Given the description of an element on the screen output the (x, y) to click on. 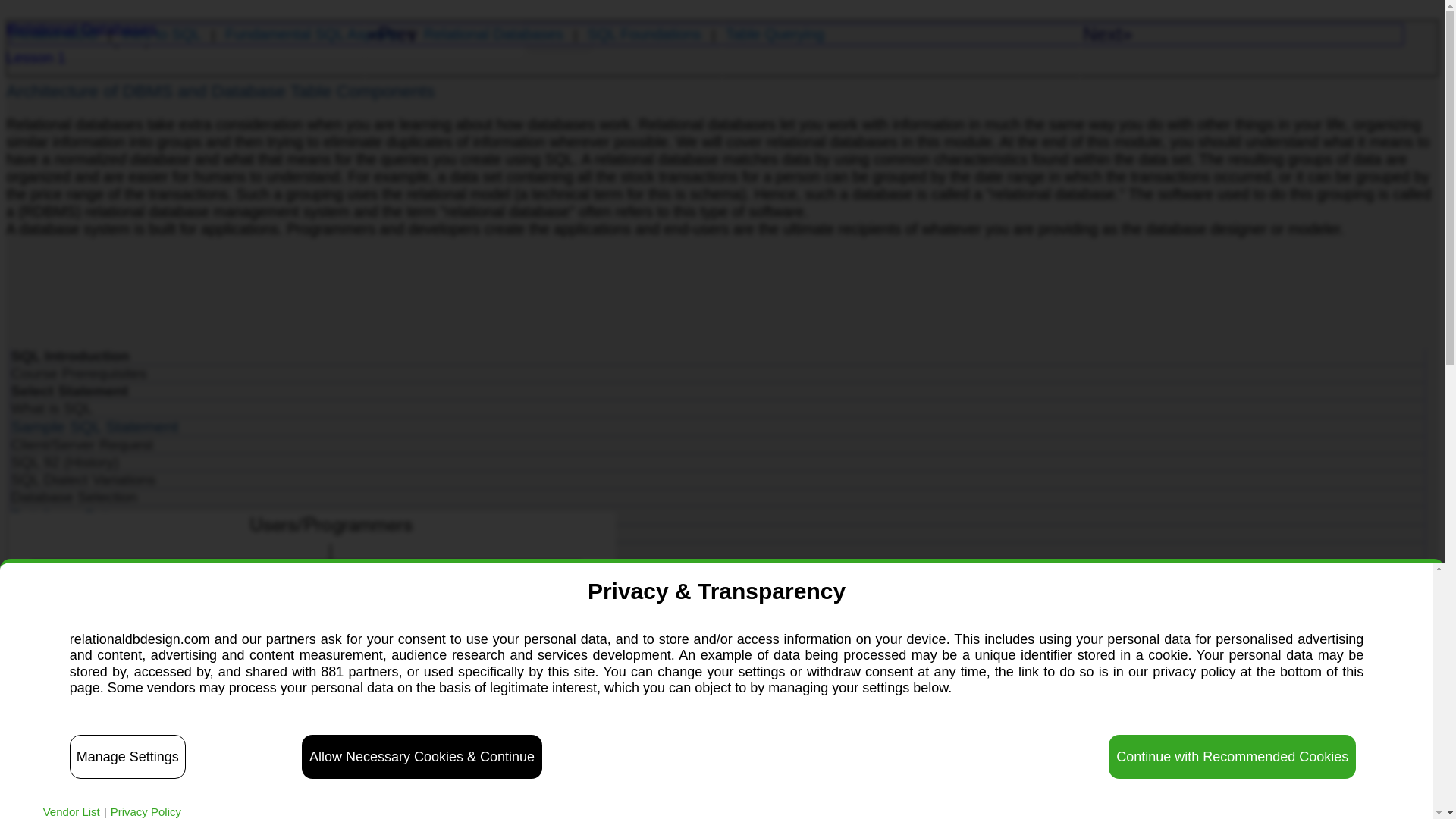
Normalization Example Table (716, 675)
Data Table Example (716, 657)
MS-SQL Server (716, 533)
Different Storage Formats (716, 604)
Search (560, 39)
Database Setup (716, 515)
Relational Databases (716, 568)
Database Selection (716, 497)
What is SQL (716, 408)
SQL Dialect Variations (716, 479)
